Given the description of an element on the screen output the (x, y) to click on. 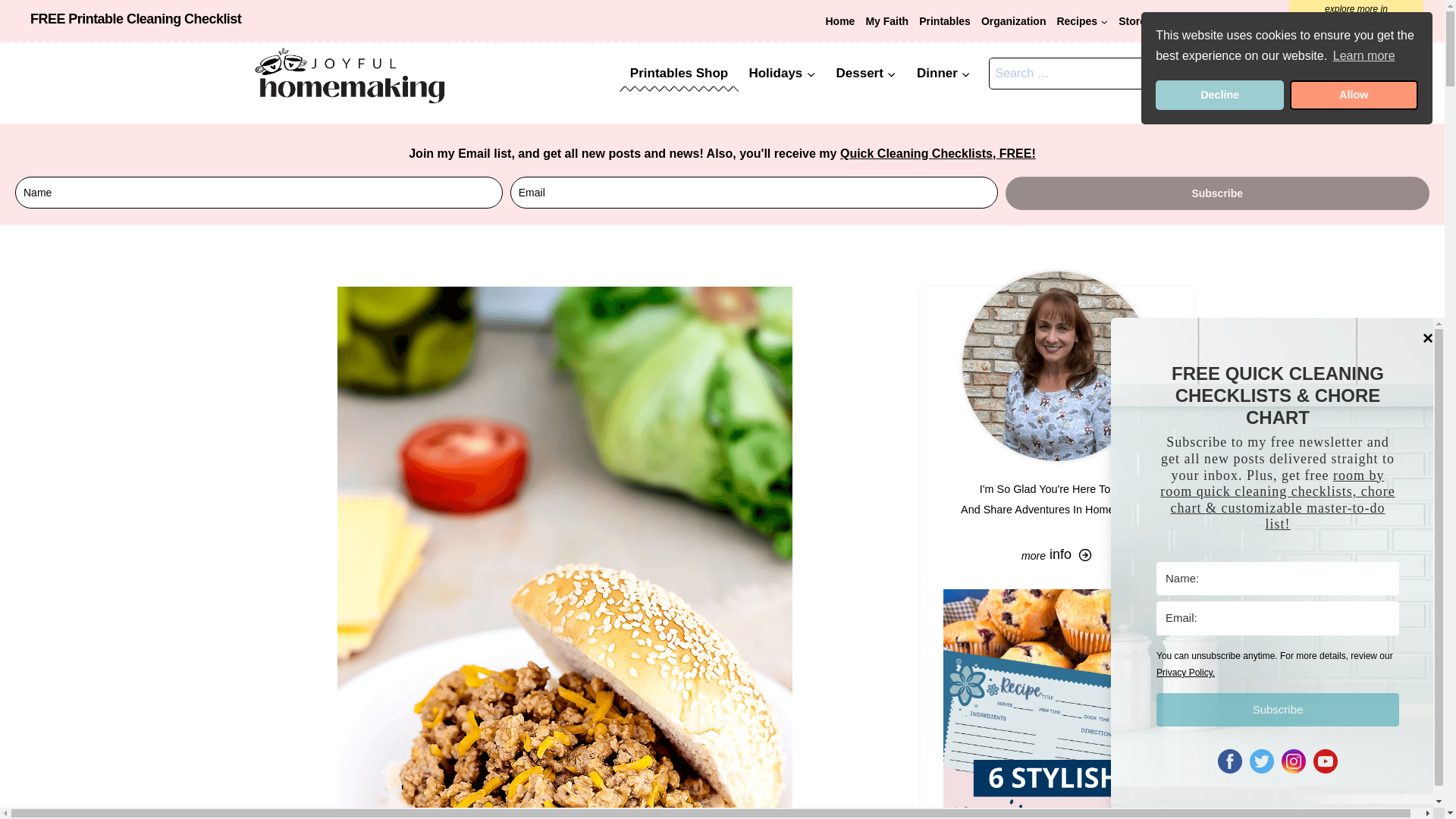
Recipes (1082, 20)
My Faith (887, 20)
Learn more (1363, 56)
Printables (944, 20)
Organization (1013, 20)
Search (1174, 73)
Search (1174, 73)
Store (1132, 20)
FREE Printable Cleaning Checklist (135, 18)
Decline (1220, 95)
Allow (1354, 95)
Home (839, 20)
